Given the description of an element on the screen output the (x, y) to click on. 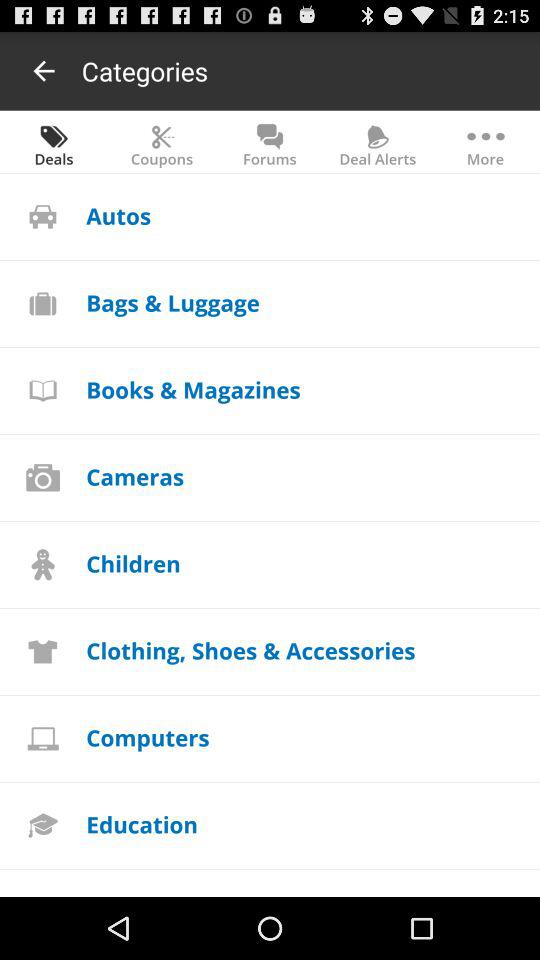
press icon below the computers icon (142, 824)
